Given the description of an element on the screen output the (x, y) to click on. 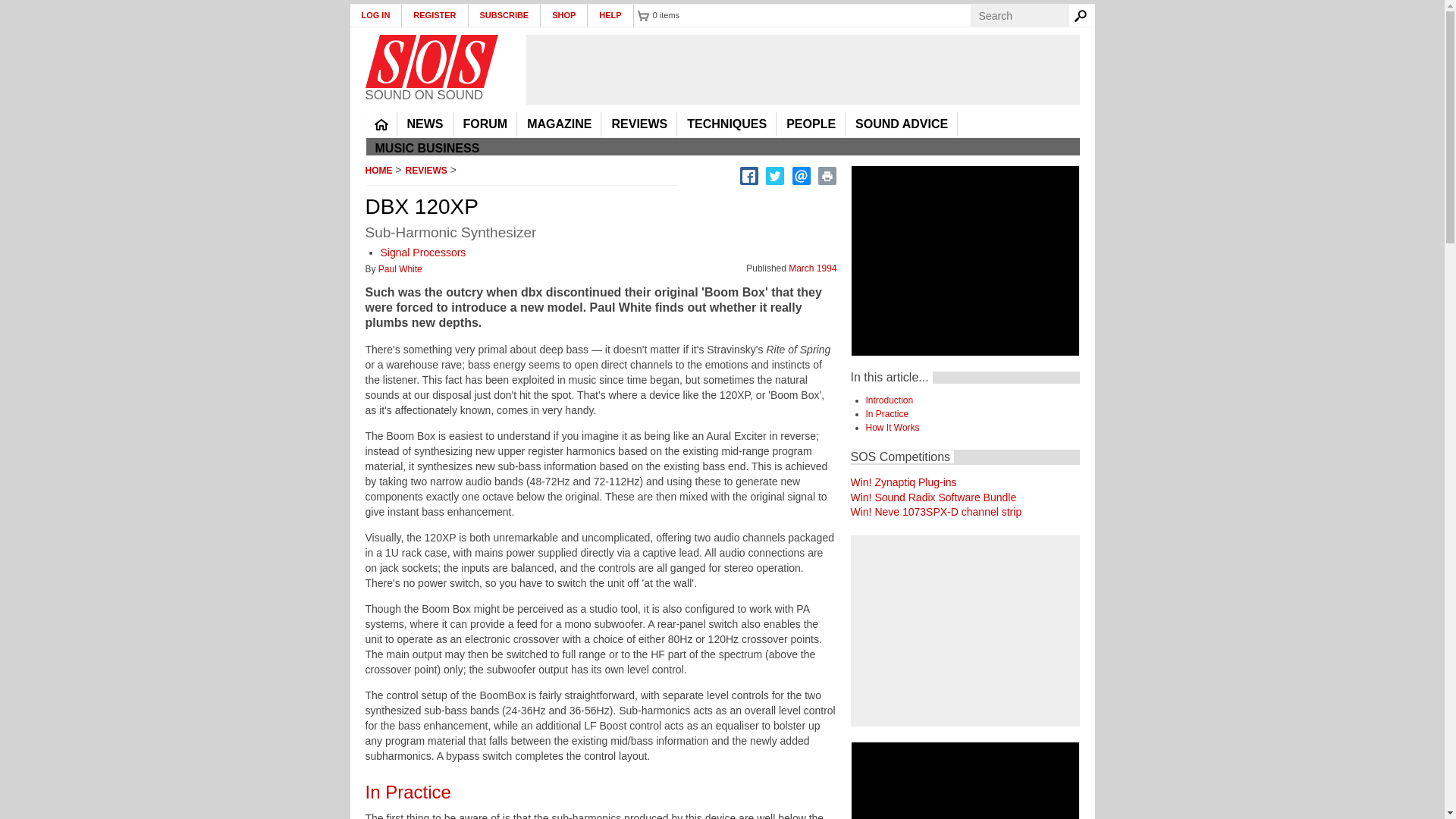
SUBSCRIBE (504, 15)
3rd party ad content (801, 70)
MAGAZINE (558, 124)
HELP (610, 15)
LOG IN (376, 15)
SHOP (564, 15)
FORUM (484, 124)
Home (431, 61)
NEWS (424, 124)
REGISTER (434, 15)
Search (1082, 15)
HOME (380, 124)
Search (1082, 15)
